Given the description of an element on the screen output the (x, y) to click on. 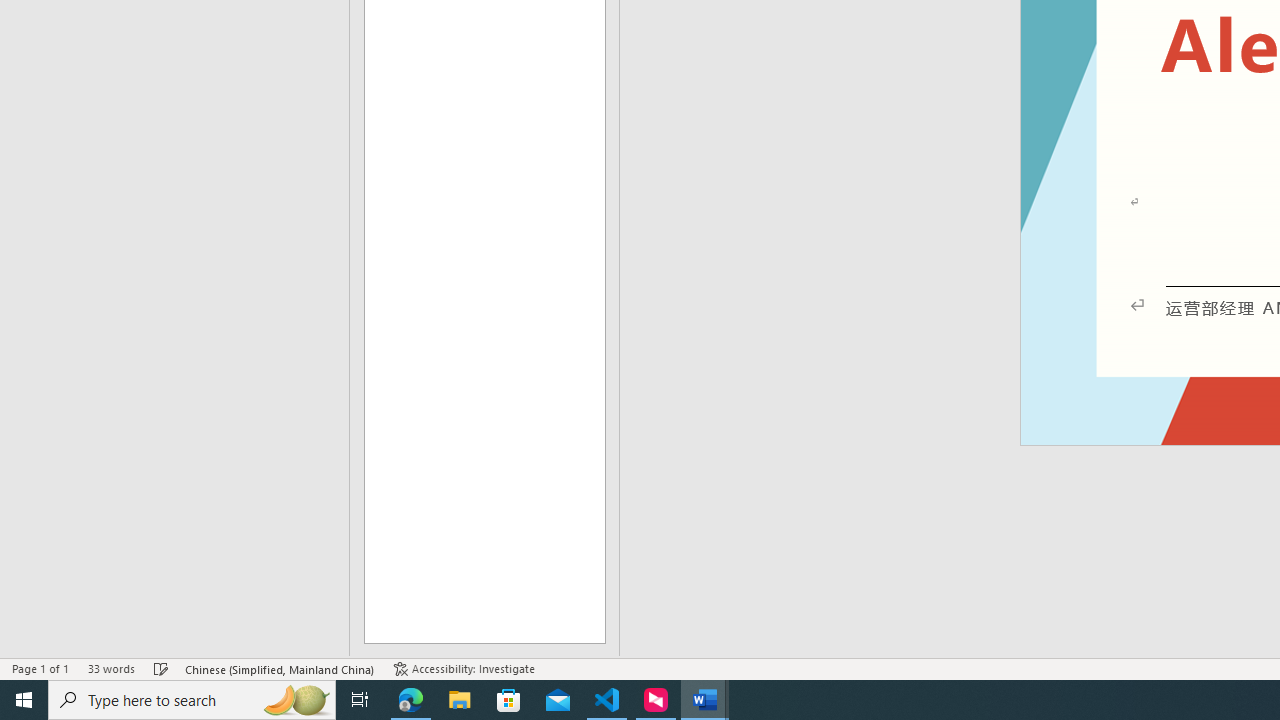
Language Chinese (Simplified, Mainland China) (279, 668)
Accessibility Checker Accessibility: Investigate (464, 668)
Page Number Page 1 of 1 (39, 668)
Spelling and Grammar Check Checking (161, 668)
